Given the description of an element on the screen output the (x, y) to click on. 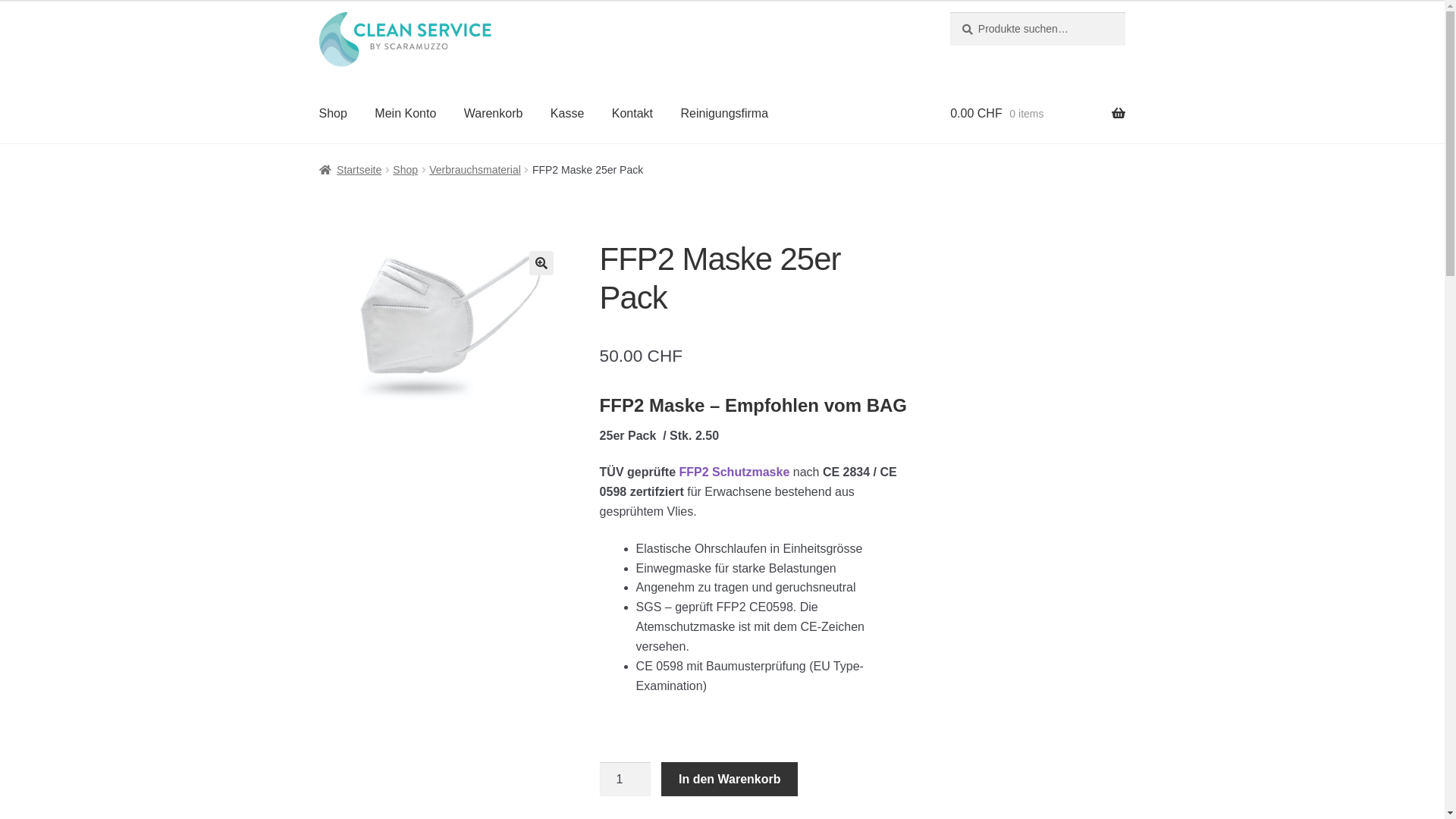
FFp2 Maske Kn95 Element type: hover (441, 322)
0.00 CHF 0 items Element type: text (1037, 114)
In den Warenkorb Element type: text (729, 779)
Reinigungsfirma Element type: text (724, 114)
Shop Element type: text (333, 114)
Mein Konto Element type: text (405, 114)
Skip to navigation Element type: text (318, 11)
Verbrauchsmaterial Element type: text (474, 169)
FFP2 Schutzmaske Element type: text (733, 471)
Kasse Element type: text (567, 114)
Suche Element type: text (949, 11)
Startseite Element type: text (350, 169)
Warenkorb Element type: text (493, 114)
Shop Element type: text (404, 169)
Kontakt Element type: text (632, 114)
